Given the description of an element on the screen output the (x, y) to click on. 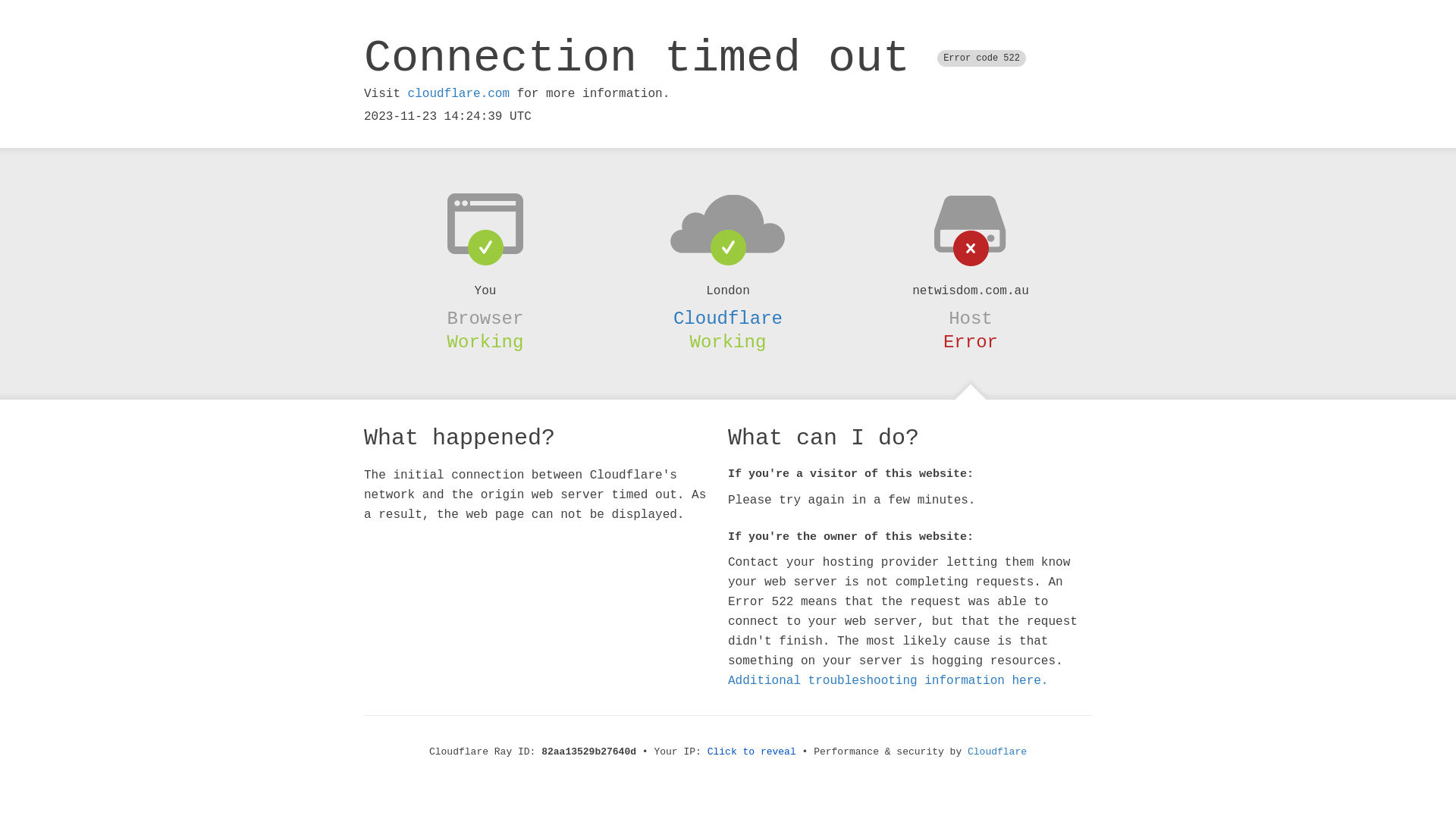
Additional troubleshooting information here. Element type: text (888, 680)
Cloudflare Element type: text (996, 751)
Click to reveal Element type: text (751, 751)
Cloudflare Element type: text (727, 318)
cloudflare.com Element type: text (458, 93)
